Given the description of an element on the screen output the (x, y) to click on. 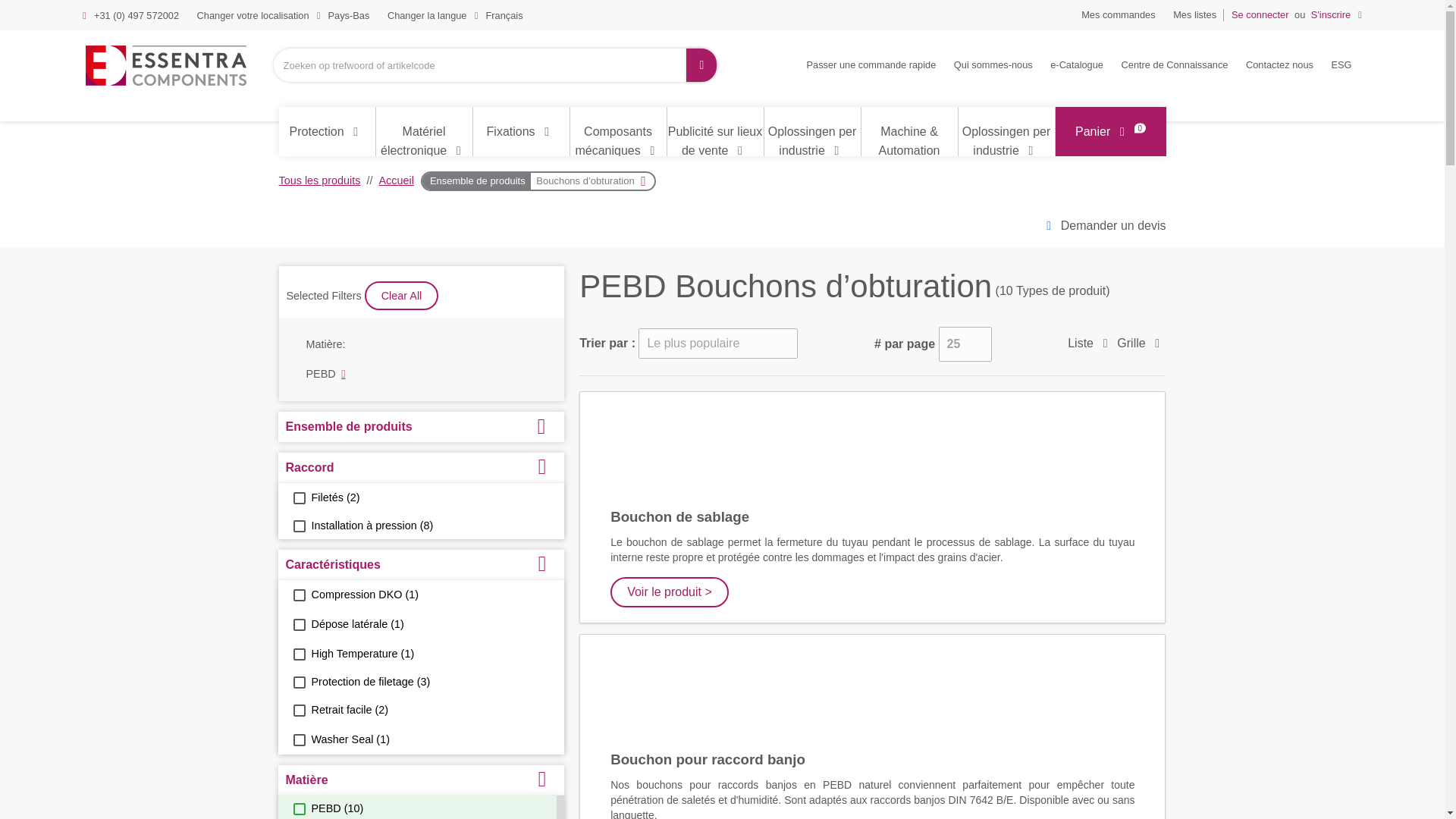
Washer Seal (298, 739)
Retrait facile (298, 710)
Protection de filetage (298, 682)
Compression DKO (298, 594)
High Temperature (298, 654)
PEBD (298, 808)
Changer votre localisation Pays-Bas (283, 15)
